Given the description of an element on the screen output the (x, y) to click on. 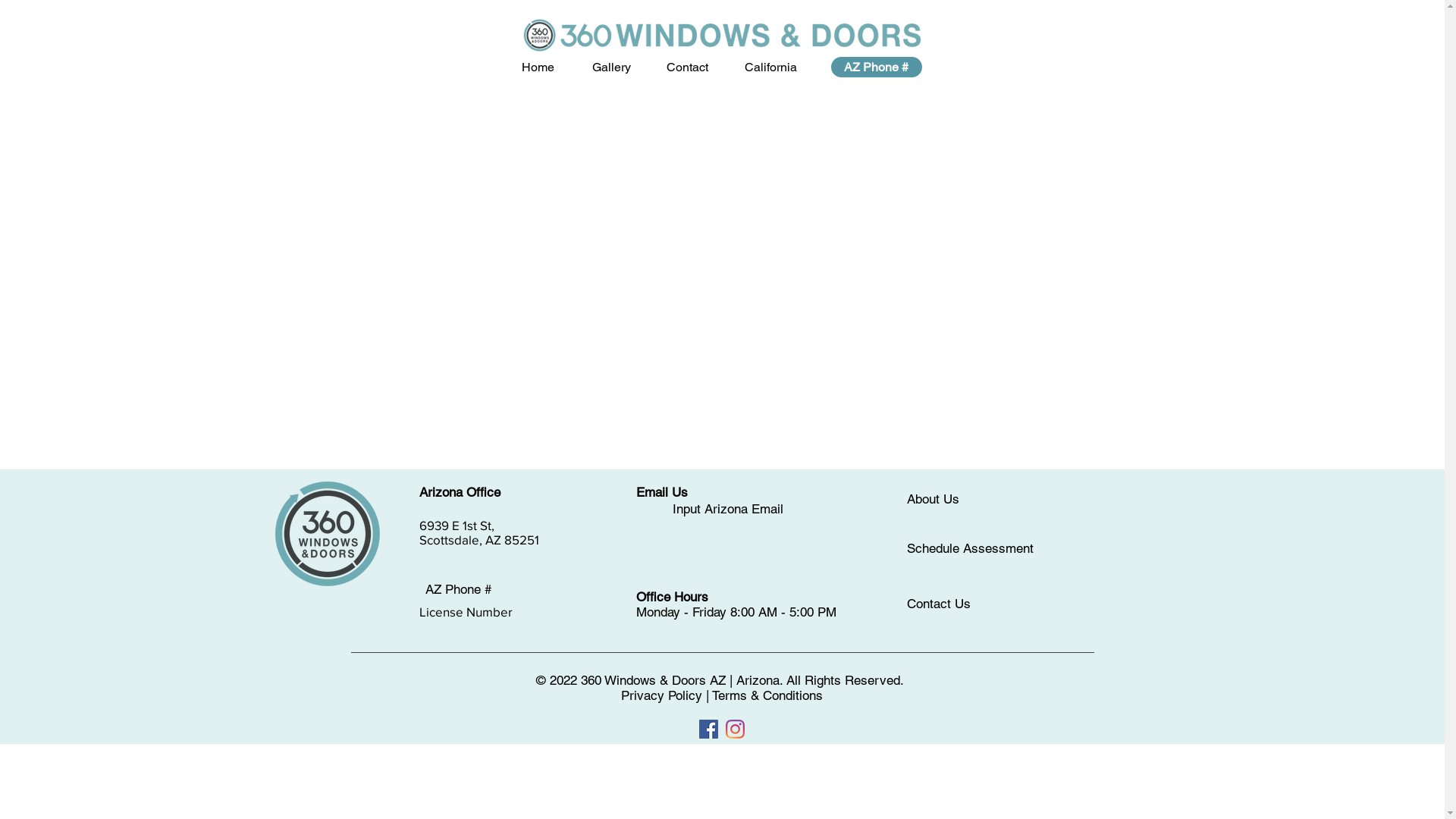
About Us Element type: text (933, 499)
Home Element type: text (537, 67)
Schedule Assessment Element type: text (970, 548)
California Element type: text (770, 67)
AZ Phone # Element type: text (876, 66)
AZ Phone # Element type: text (457, 589)
Gallery Element type: text (610, 67)
Contact Element type: text (686, 67)
Contact Us Element type: text (938, 604)
Input Arizona Email Element type: text (727, 508)
